Given the description of an element on the screen output the (x, y) to click on. 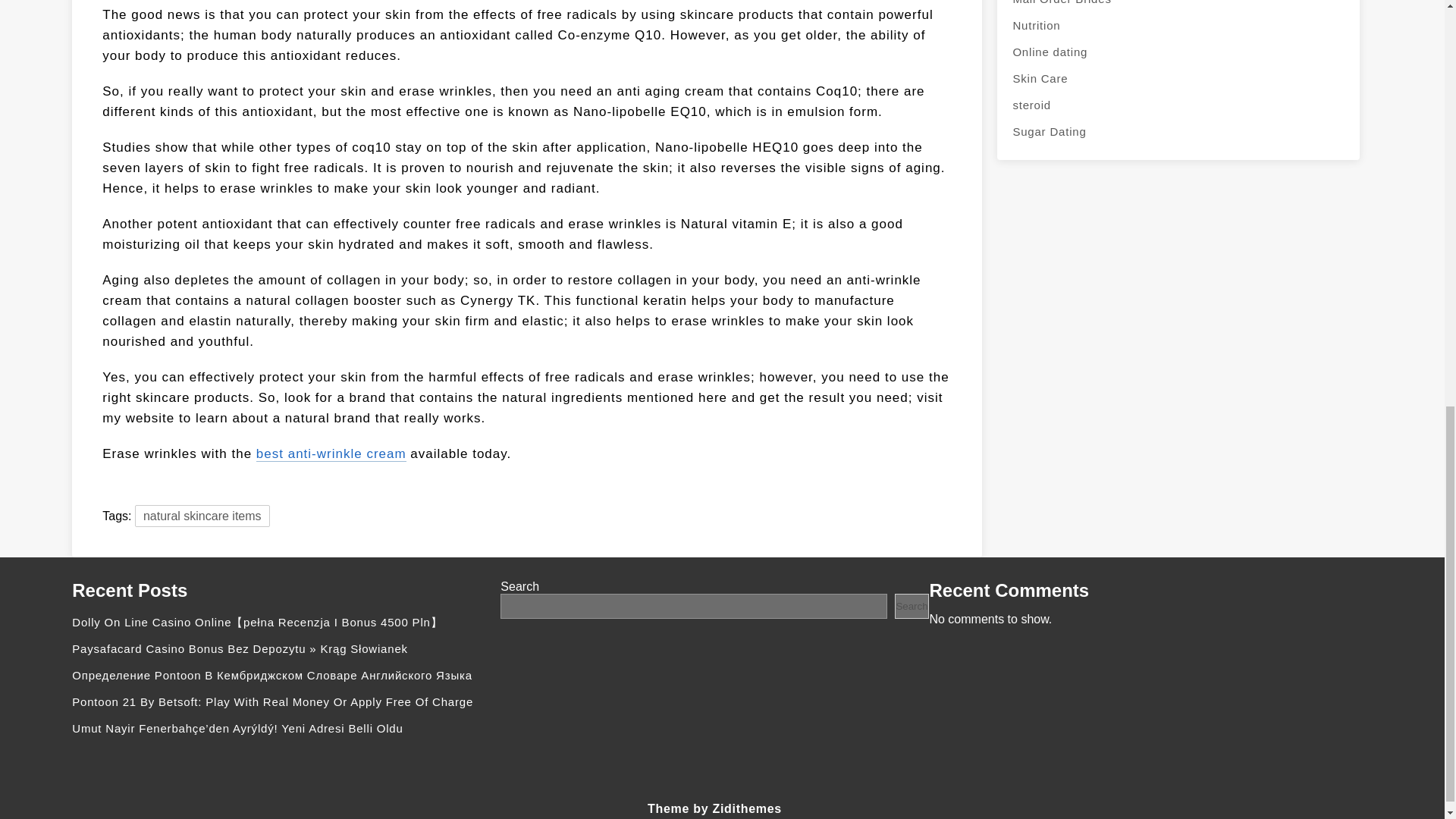
best anti-wrinkle cream (331, 453)
Skin Care (1177, 78)
Mail Order Brides (1177, 6)
steroid (1177, 104)
Nutrition (1177, 25)
natural skincare items (202, 516)
Online dating (1177, 51)
